Given the description of an element on the screen output the (x, y) to click on. 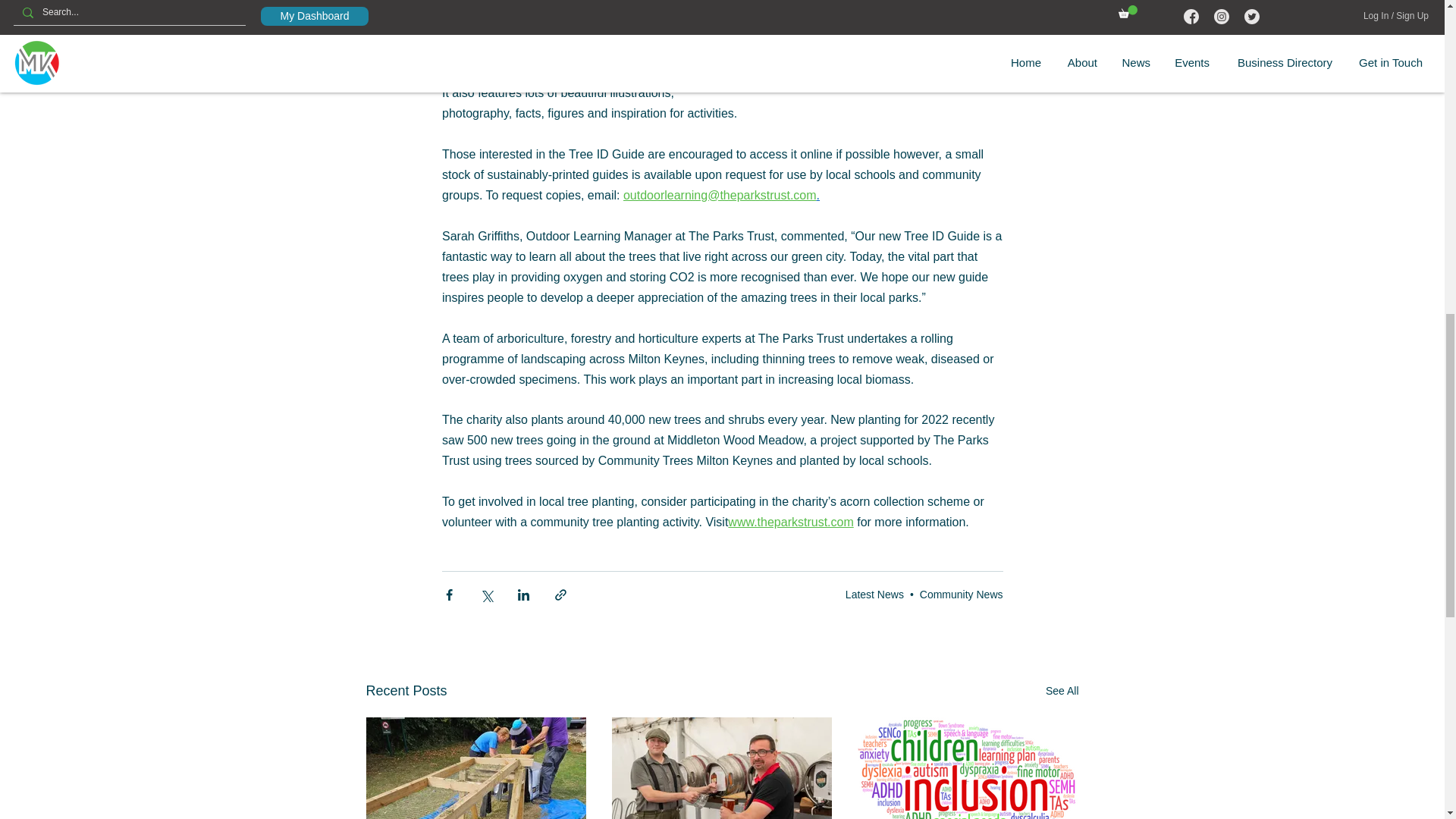
www.theparkstrust.com (790, 521)
Latest News (874, 594)
See All (1061, 690)
Community News (961, 594)
